Given the description of an element on the screen output the (x, y) to click on. 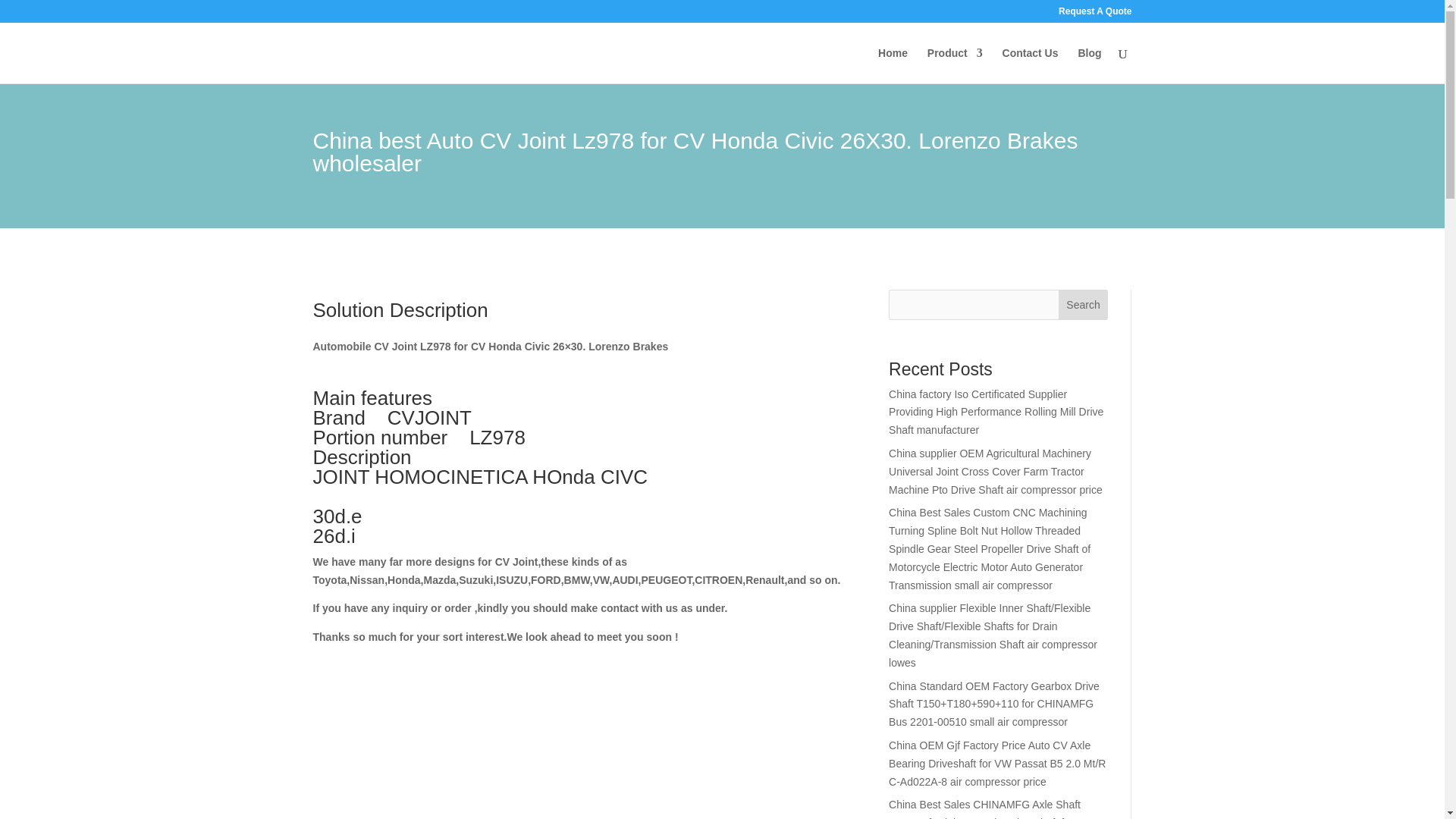
Product (954, 65)
Request A Quote (1094, 14)
Search (1083, 304)
Contact Us (1030, 65)
